Given the description of an element on the screen output the (x, y) to click on. 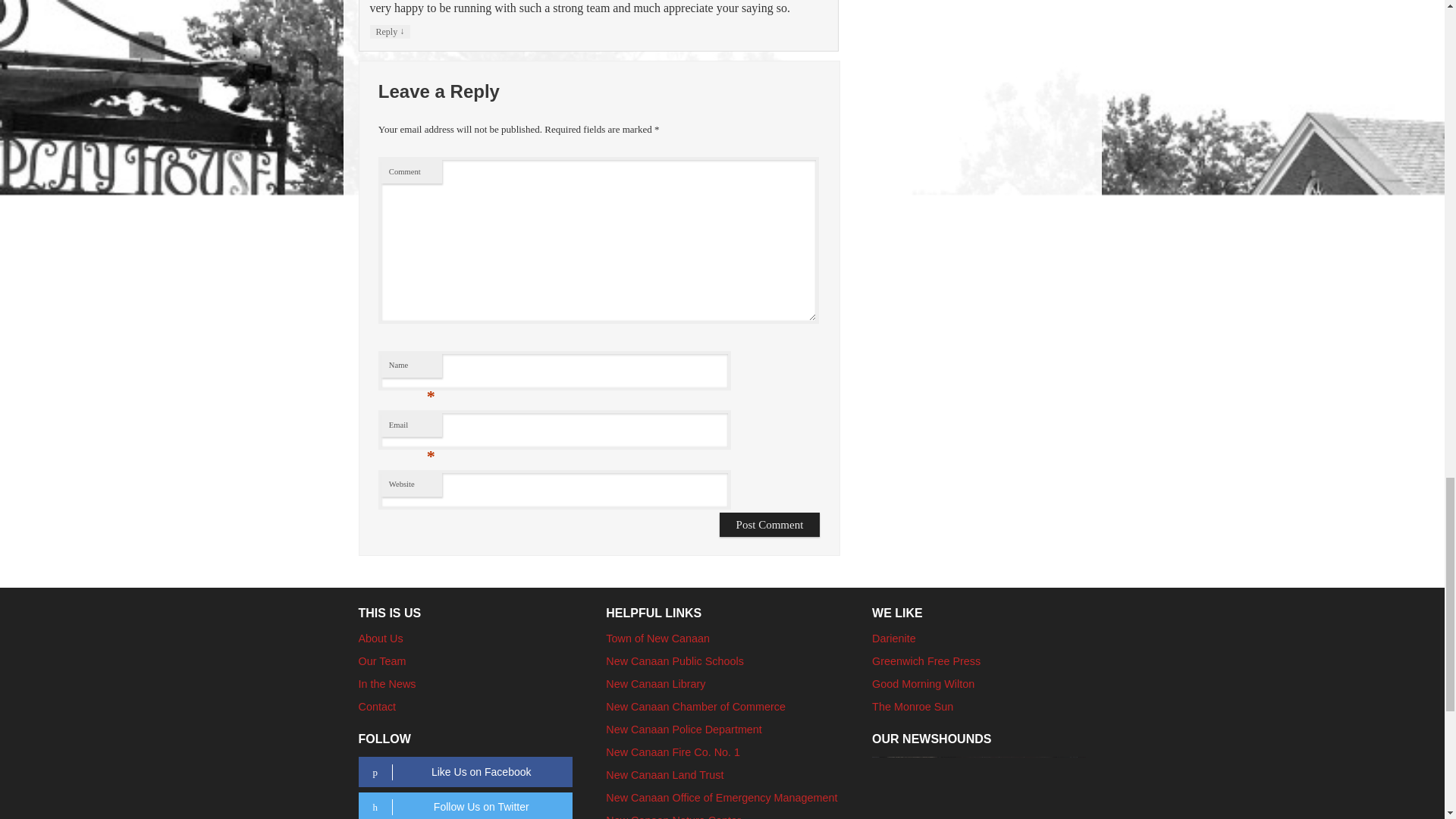
Post Comment (770, 524)
